Given the description of an element on the screen output the (x, y) to click on. 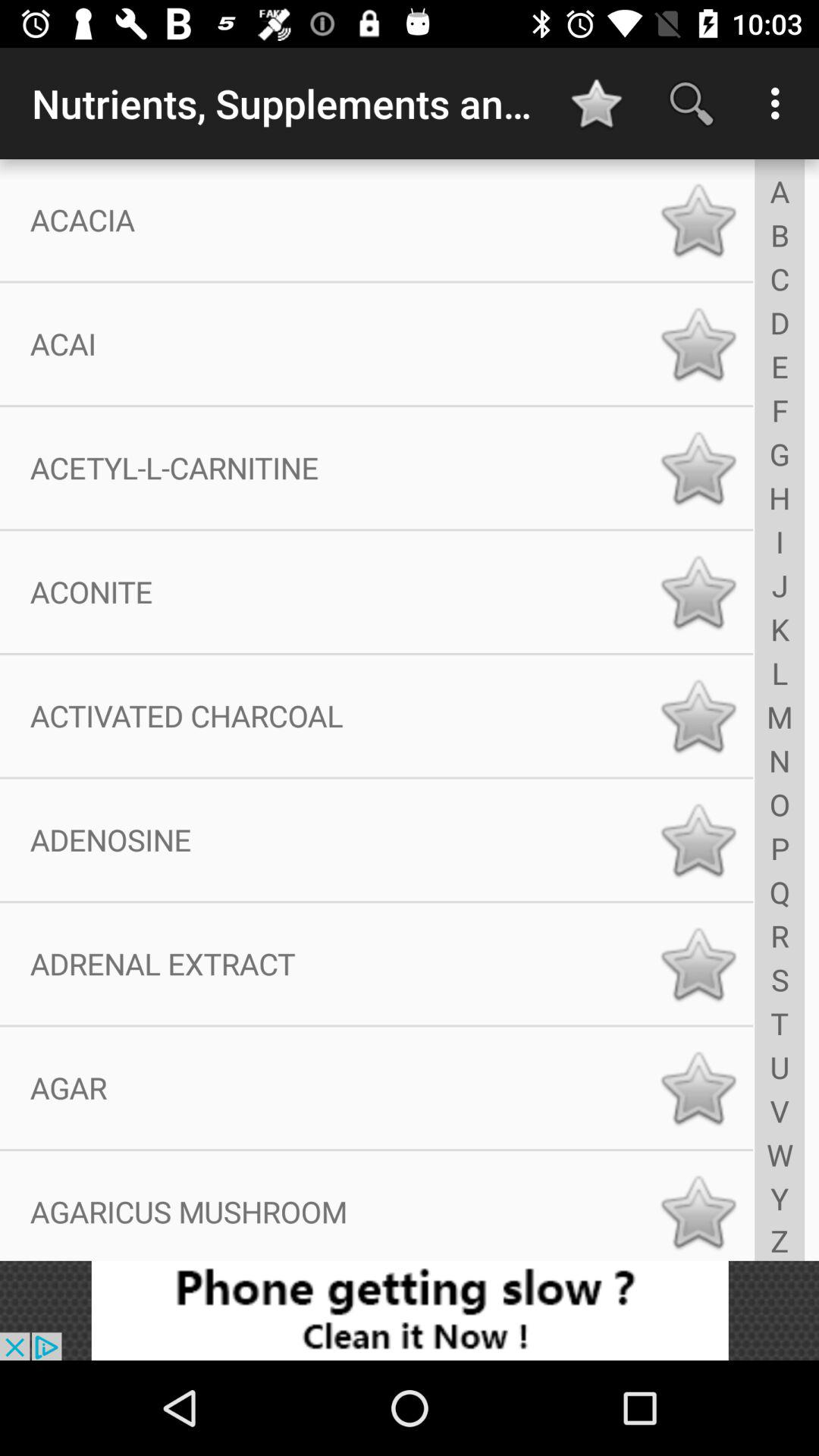
favorite (697, 839)
